Given the description of an element on the screen output the (x, y) to click on. 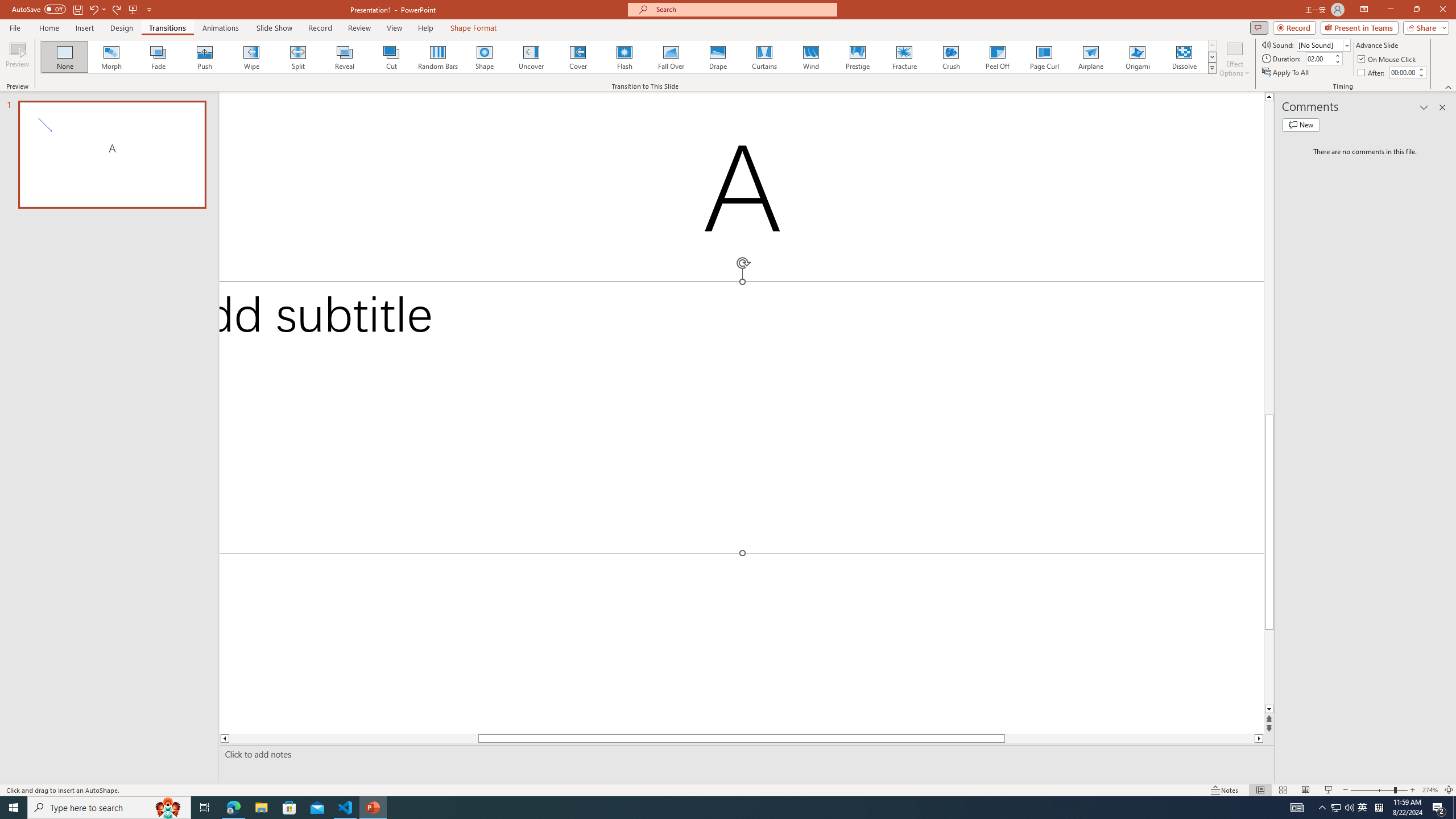
Flash (624, 56)
Push (205, 56)
Sound (1324, 44)
